Given the description of an element on the screen output the (x, y) to click on. 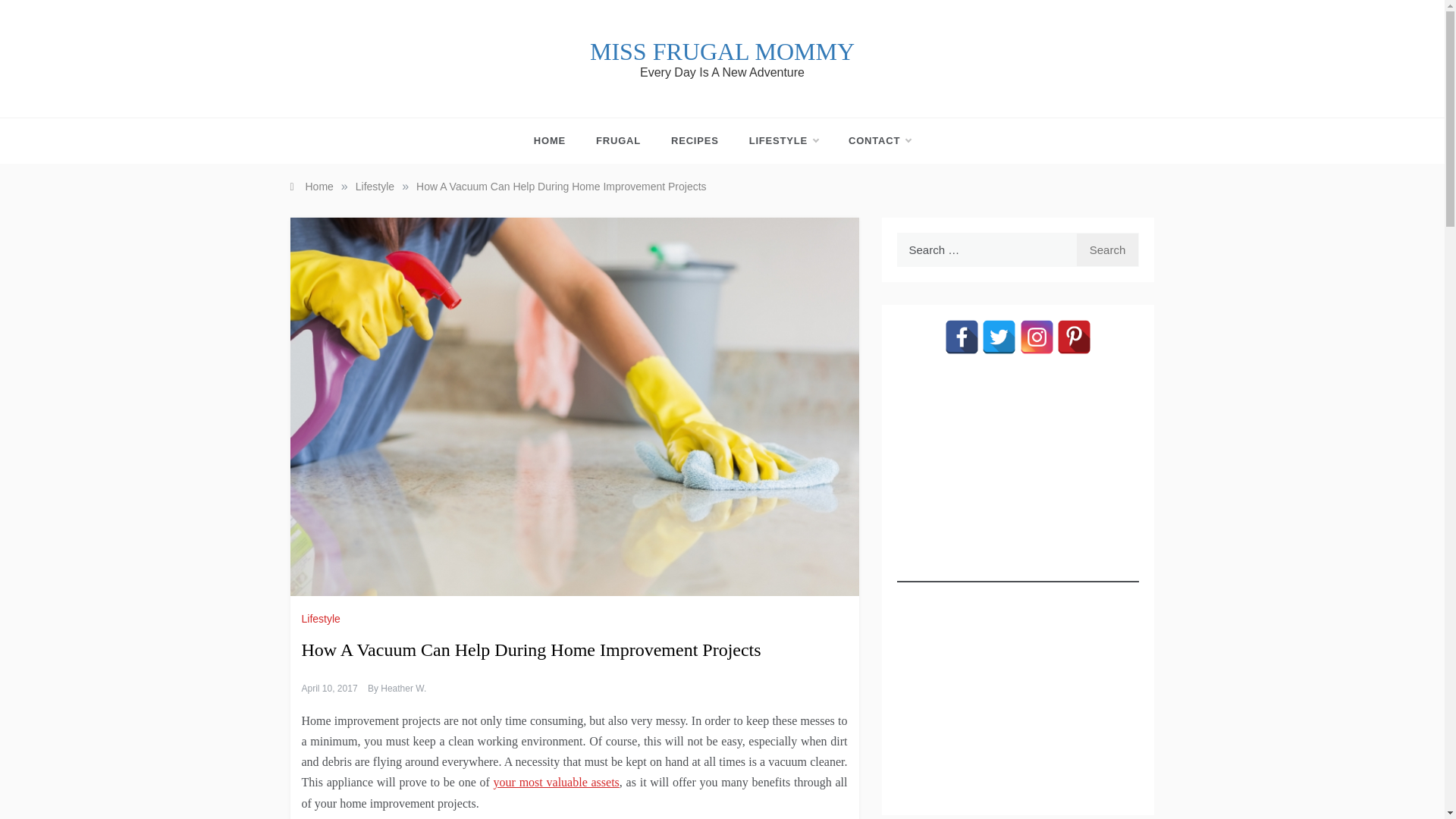
Search (1107, 249)
Lifestyle (374, 186)
April 10, 2017 (329, 688)
Search (1107, 249)
Pinterest (1073, 336)
Facebook (961, 336)
Instagram (1037, 336)
MISS FRUGAL MOMMY (721, 51)
How A Vacuum Can Help During Home Improvement Projects (561, 186)
Home (311, 186)
Search (1107, 249)
LIFESTYLE (782, 140)
your most valuable assets (556, 781)
RECIPES (694, 140)
FRUGAL (618, 140)
